Given the description of an element on the screen output the (x, y) to click on. 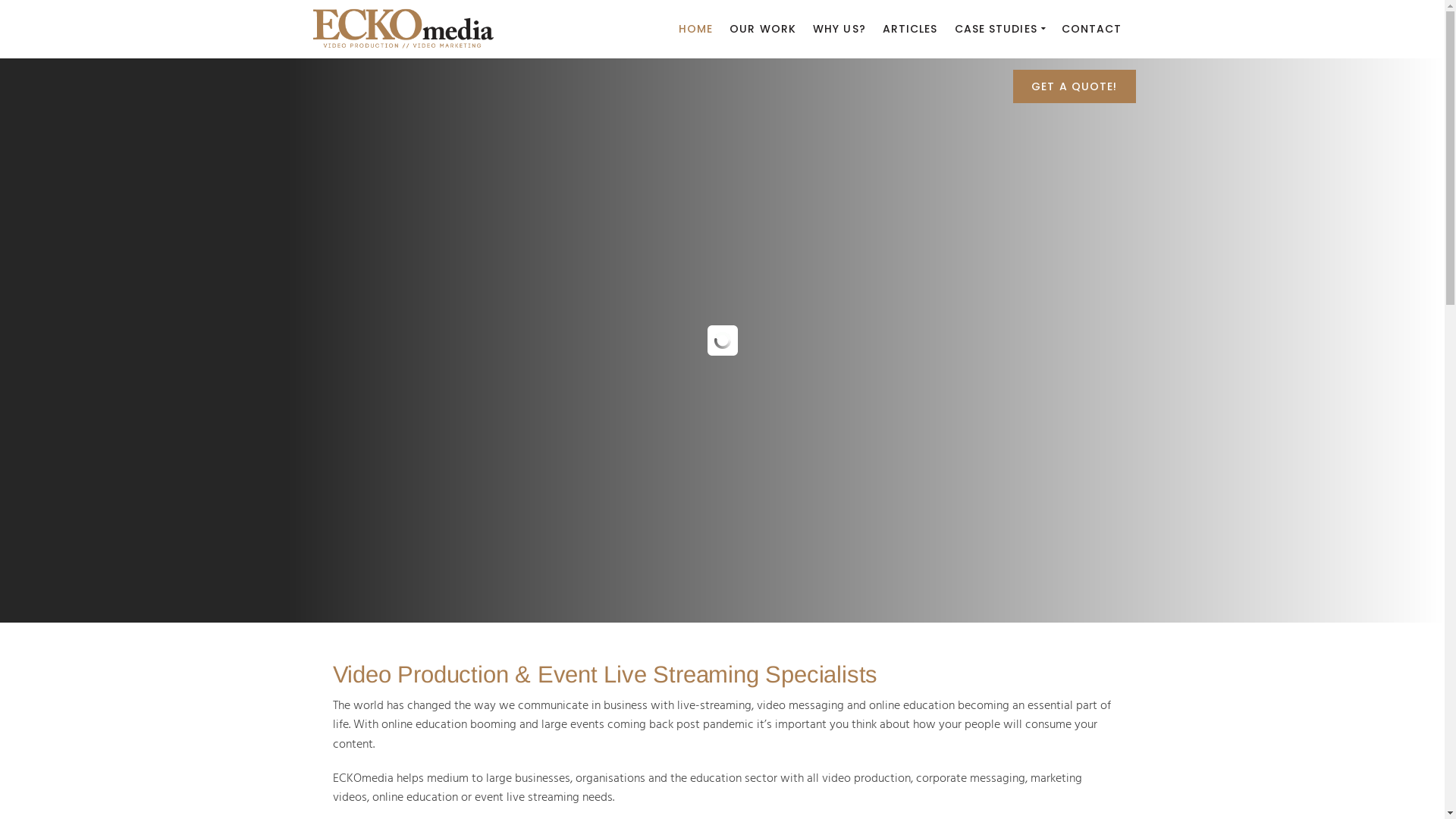
CONTACT Element type: text (1091, 29)
WHY US? Element type: text (839, 29)
ARTICLES Element type: text (910, 29)
CASE STUDIES Element type: text (999, 29)
GET A QUOTE! Element type: text (1074, 87)
HOME Element type: text (695, 29)
OUR WORK Element type: text (762, 29)
